Given the description of an element on the screen output the (x, y) to click on. 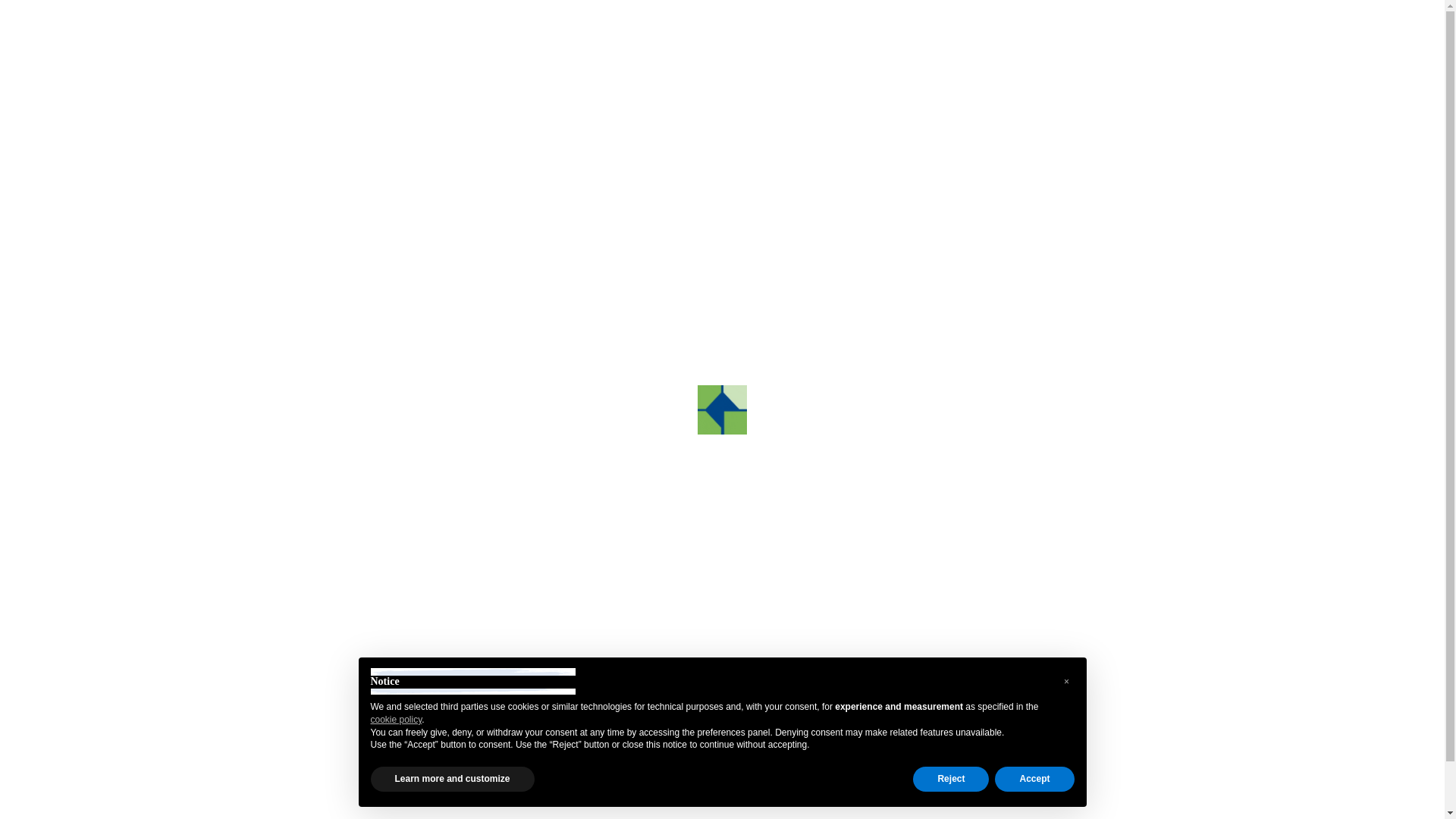
Term of use (340, 180)
Consulting (539, 72)
  Back (314, 123)
Home (308, 72)
Reserved Area (1093, 25)
News (480, 72)
Select your language (1081, 72)
Home (325, 160)
Company (362, 72)
Contacts (607, 72)
